Given the description of an element on the screen output the (x, y) to click on. 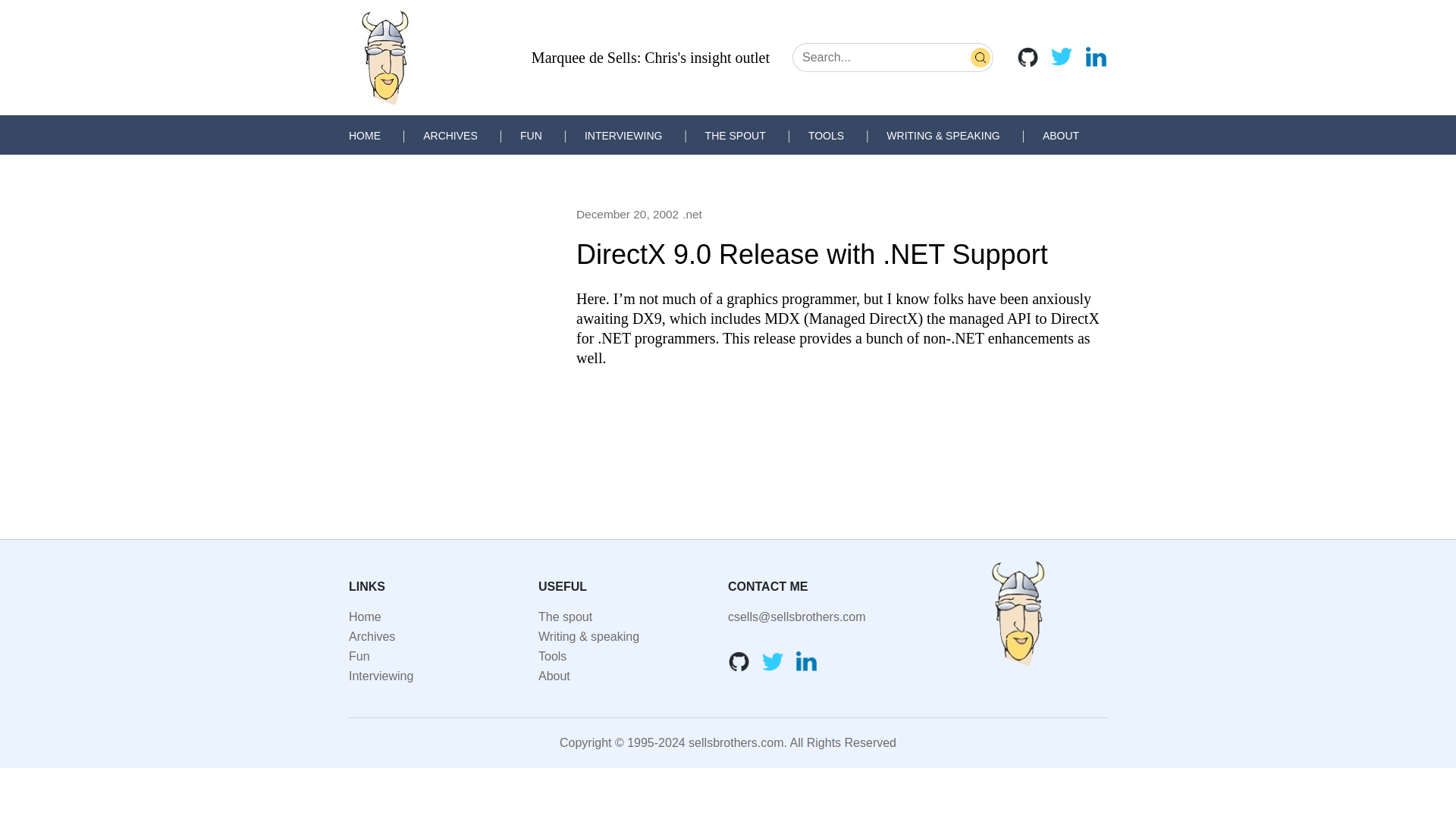
About (554, 675)
Twitter (1061, 56)
Marquee de Sells: Chris's insight outlet (650, 57)
FUN (530, 135)
LinkedIn (806, 661)
GitHub (739, 661)
INTERVIEWING (623, 135)
.net (691, 214)
Twitter (772, 661)
HOME (364, 135)
